Given the description of an element on the screen output the (x, y) to click on. 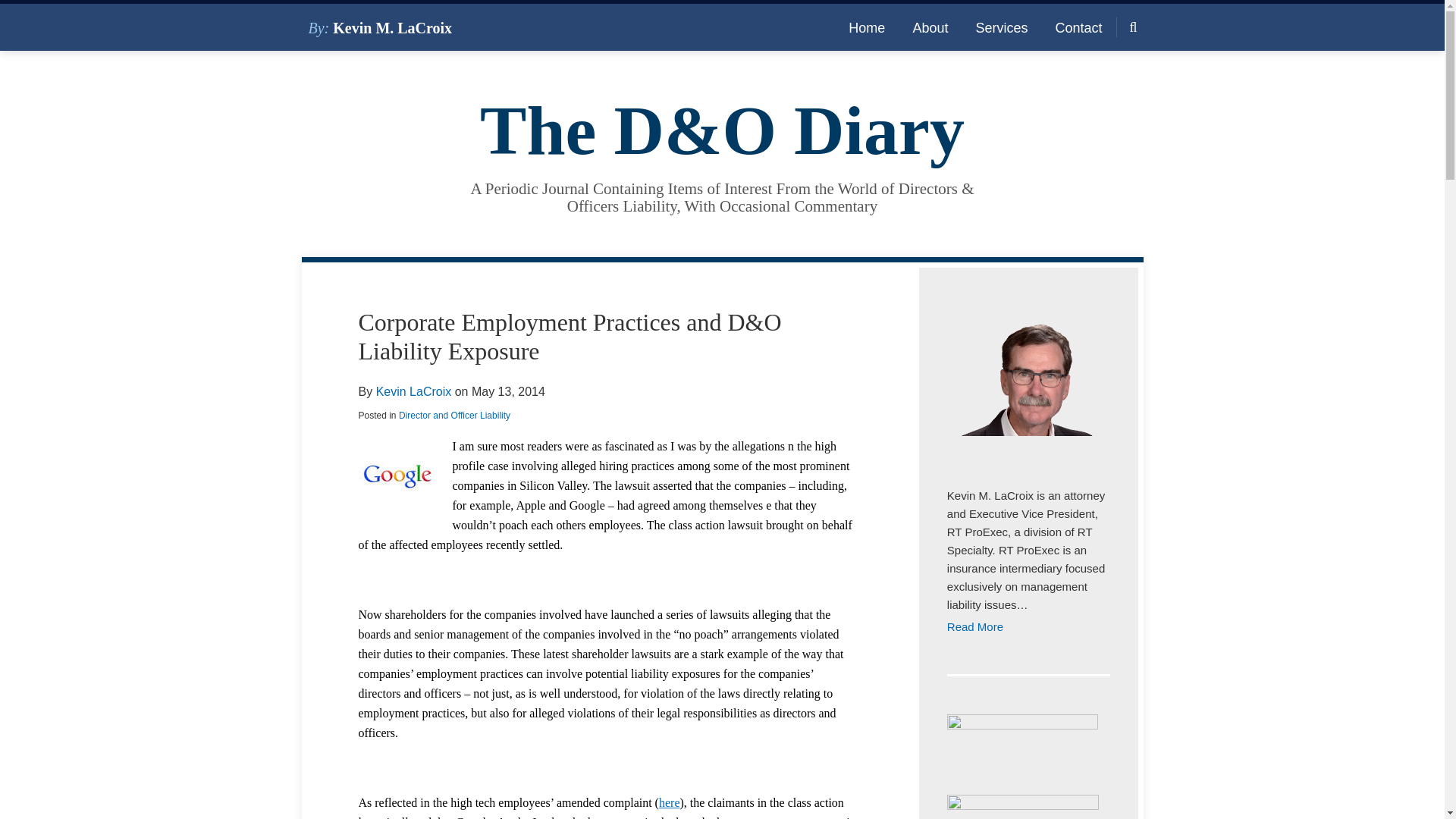
Contact (1078, 27)
About (929, 27)
Services (1001, 27)
here (669, 802)
Kevin LaCroix (413, 391)
Director and Officer Liability (454, 415)
Home (866, 27)
Kevin M. LaCroix (392, 27)
